Given the description of an element on the screen output the (x, y) to click on. 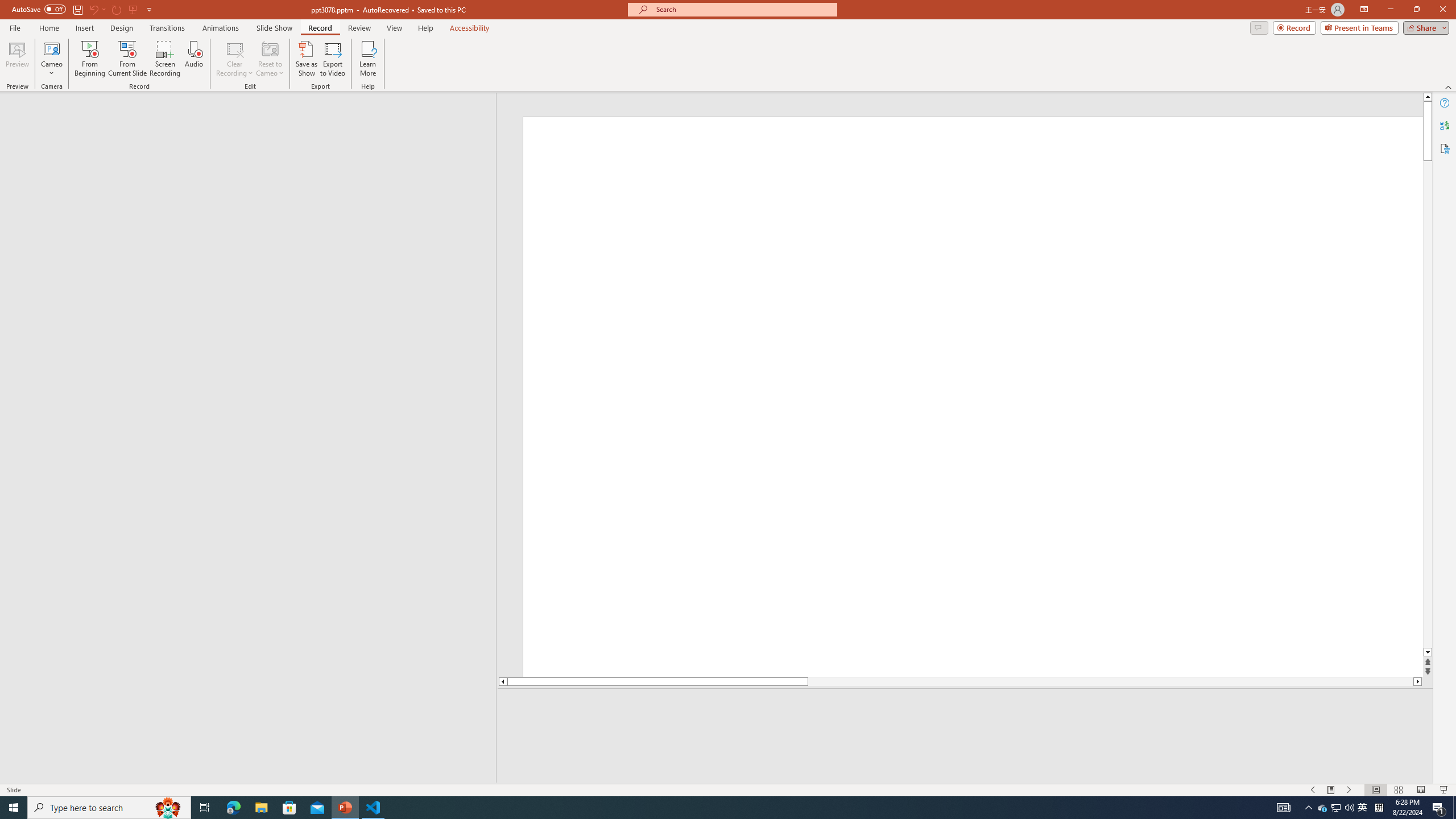
Slide Show Previous On (1313, 790)
Audio (193, 58)
Save as Show (306, 58)
Menu On (1331, 790)
Screen Recording (165, 58)
Clear Recording (234, 58)
Export to Video (332, 58)
From Current Slide... (127, 58)
